Given the description of an element on the screen output the (x, y) to click on. 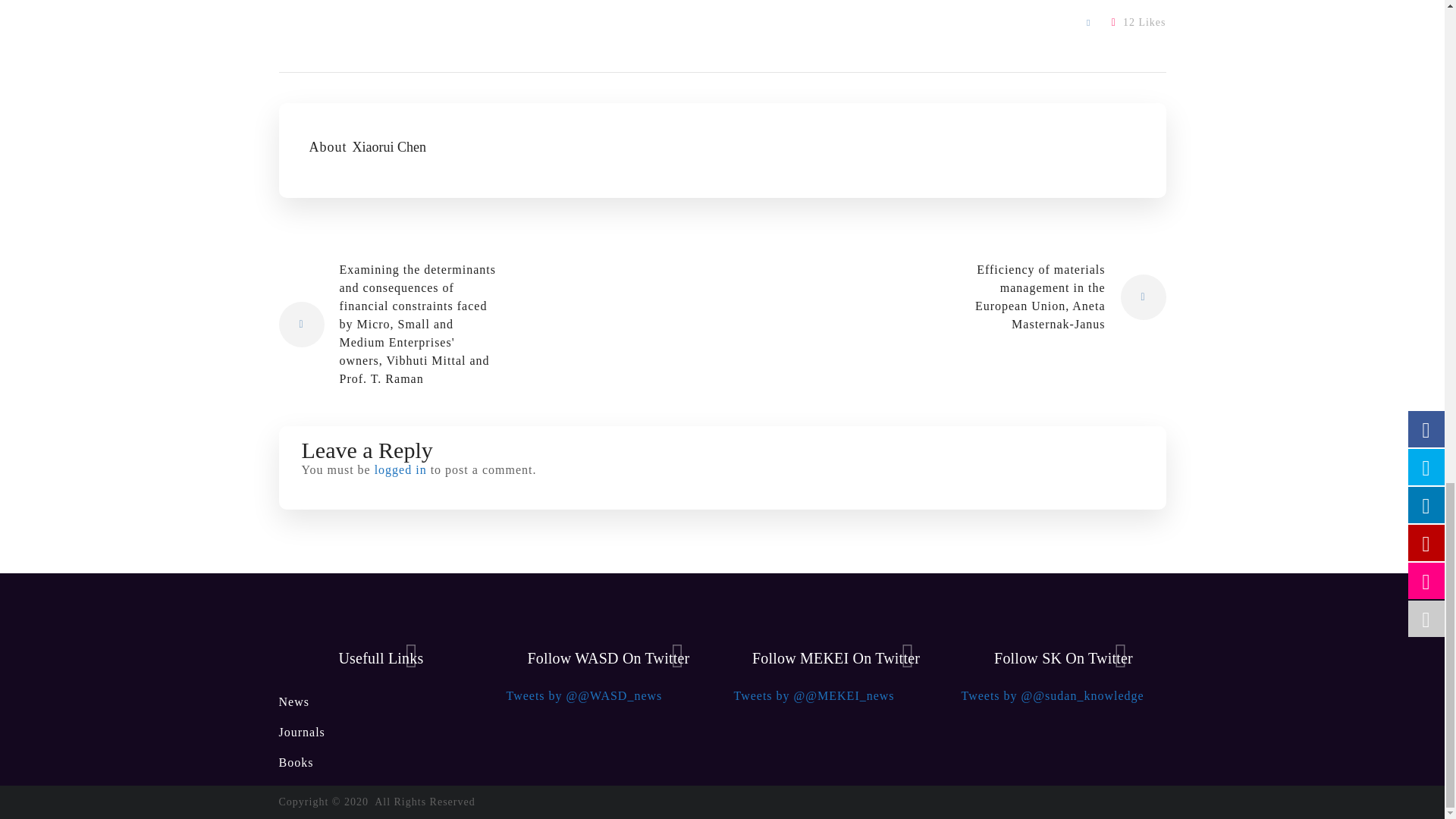
Like (1139, 21)
